Given the description of an element on the screen output the (x, y) to click on. 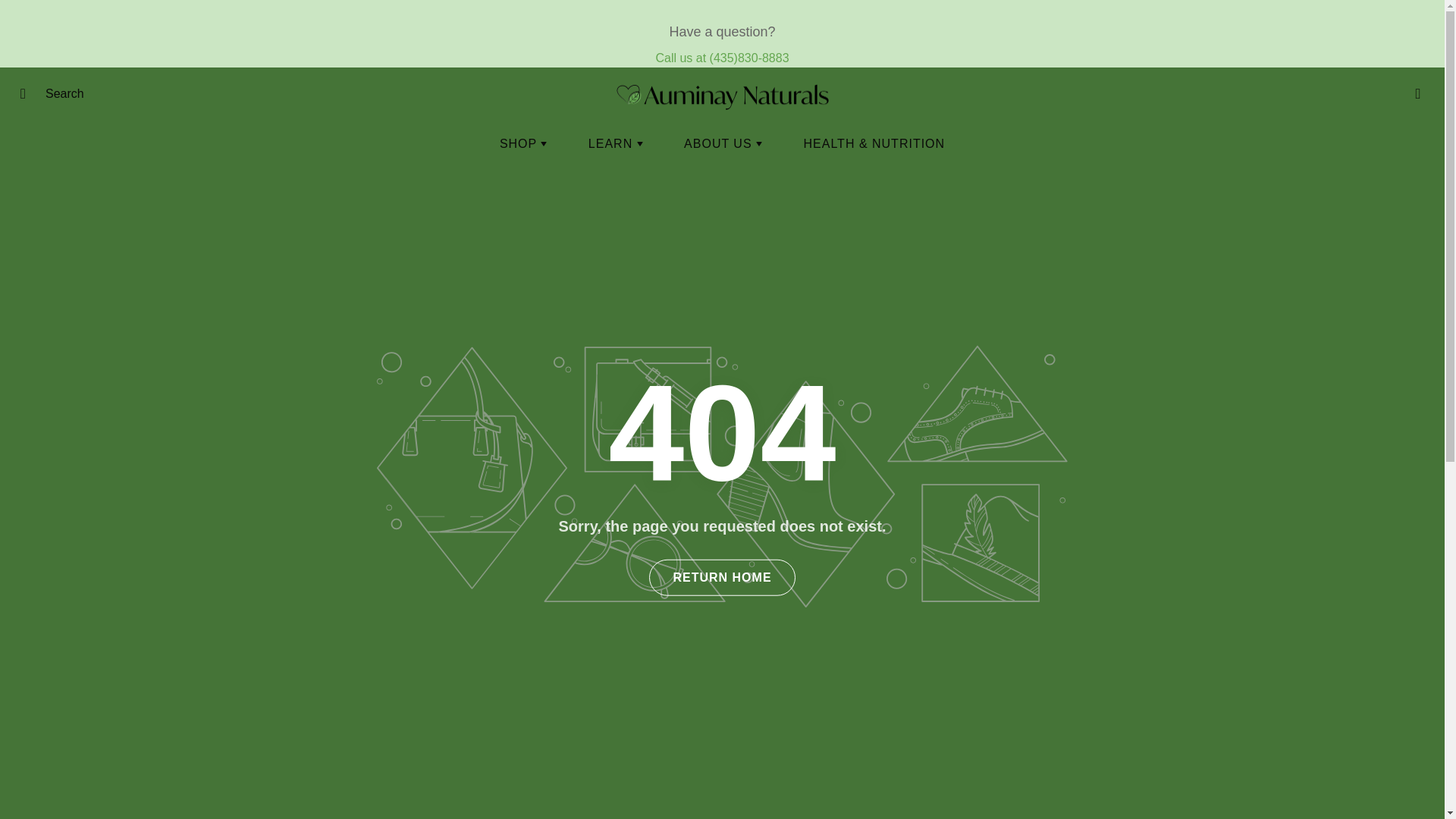
Search (28, 93)
You have 0 items in your cart (1417, 93)
SHOP (523, 143)
